Given the description of an element on the screen output the (x, y) to click on. 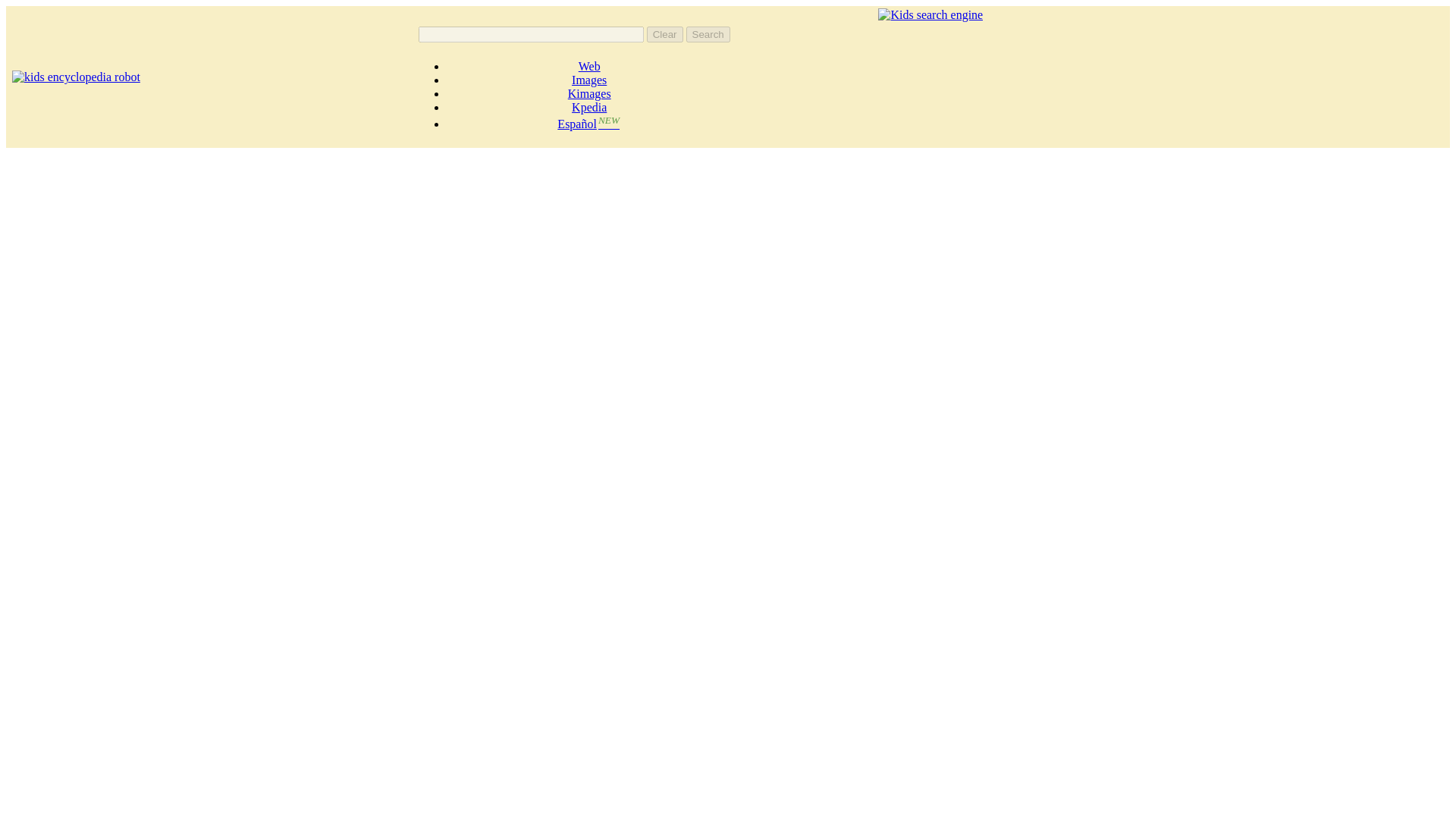
Images (589, 79)
Clear (664, 34)
Search (707, 34)
Web (588, 65)
Kpedia (589, 106)
Kimages (589, 92)
